Given the description of an element on the screen output the (x, y) to click on. 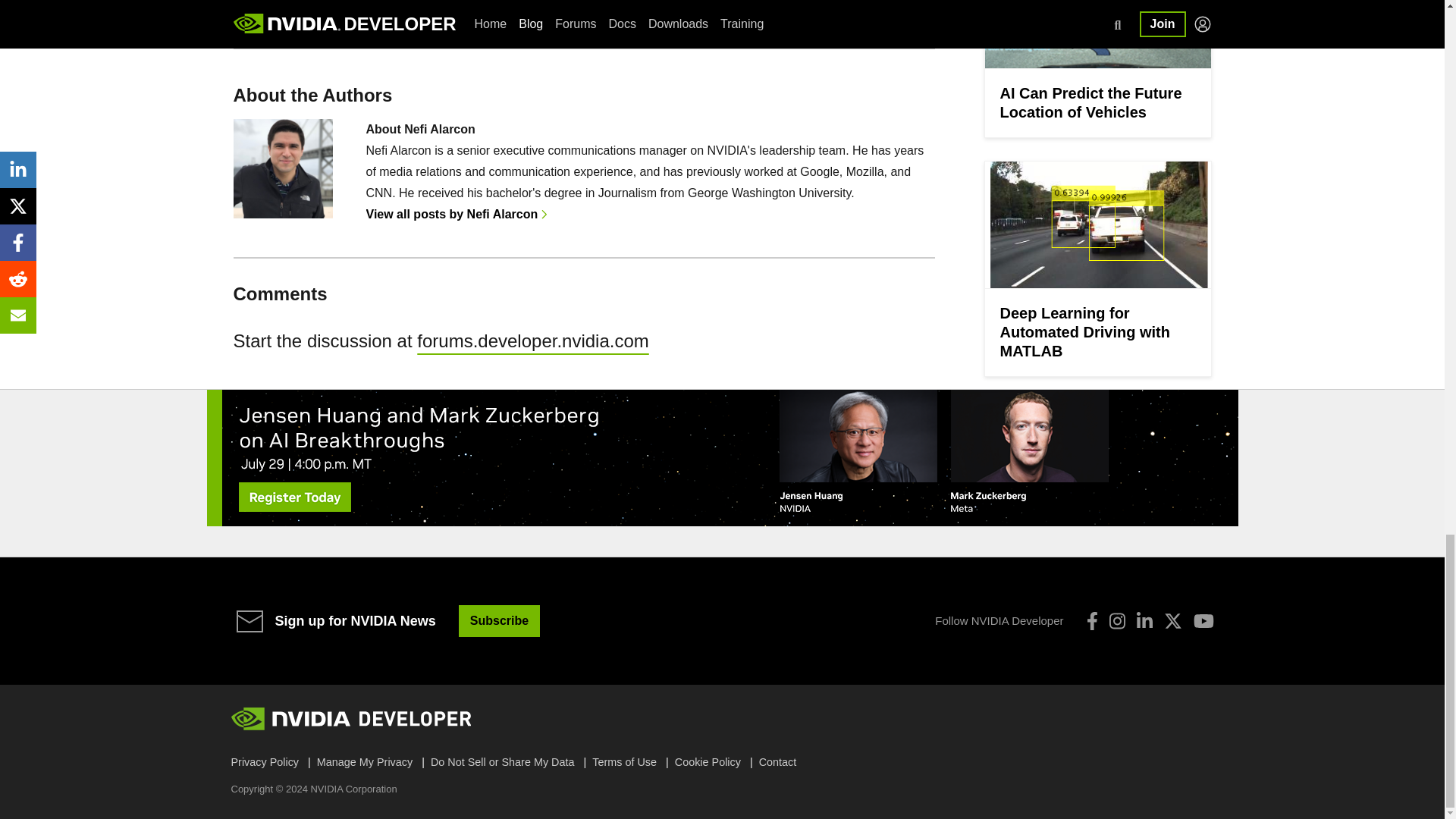
News (406, 28)
Featured (455, 28)
Facebook (1091, 620)
LinkedIn (1143, 620)
Twitter (1171, 620)
YouTube (1203, 620)
Instagram (1116, 620)
